Given the description of an element on the screen output the (x, y) to click on. 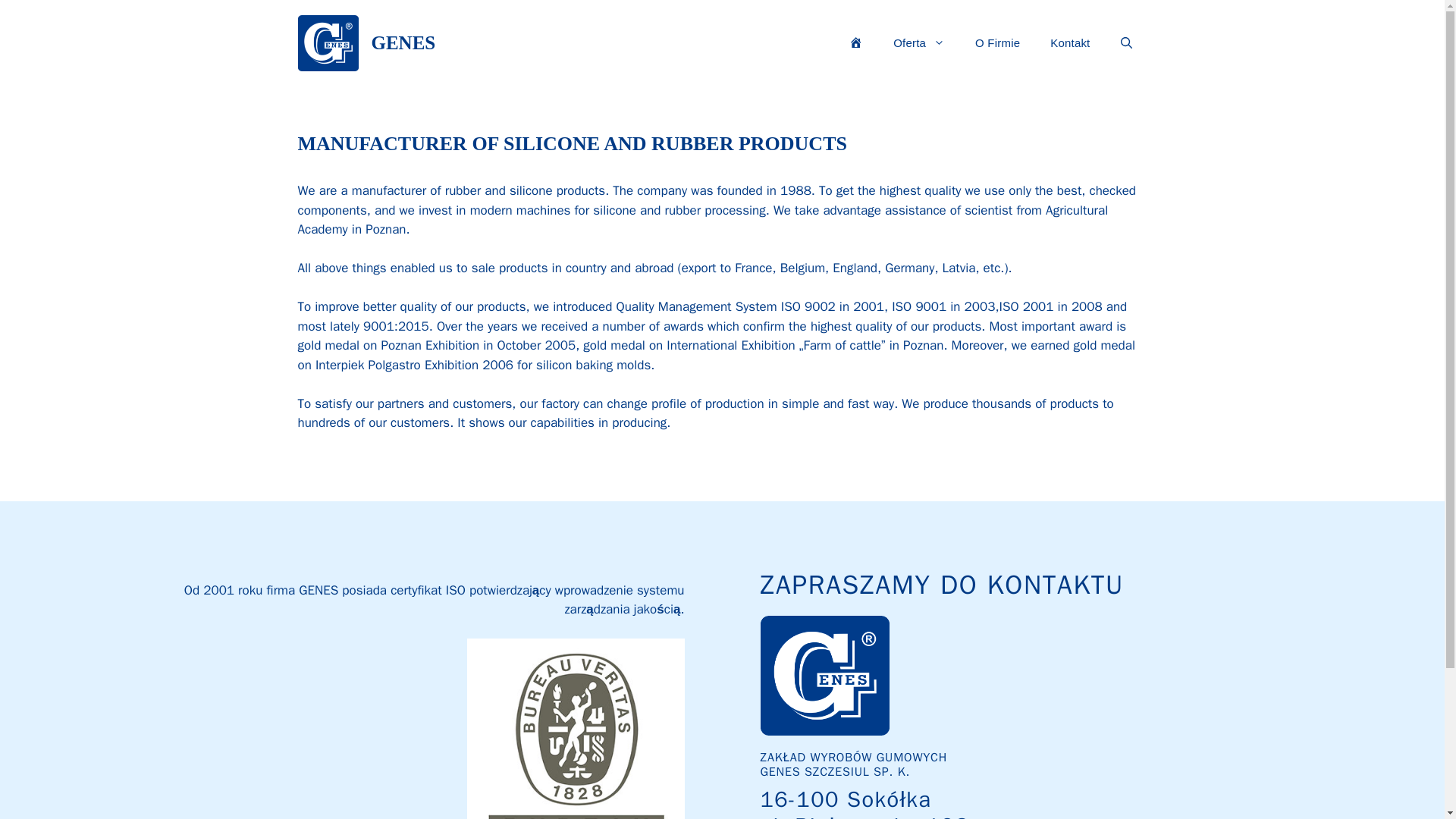
ZAPRASZAMY DO KONTAKTU (942, 584)
GENES (403, 42)
O Firmie (997, 43)
Kontakt (1070, 43)
Oferta (918, 43)
